Given the description of an element on the screen output the (x, y) to click on. 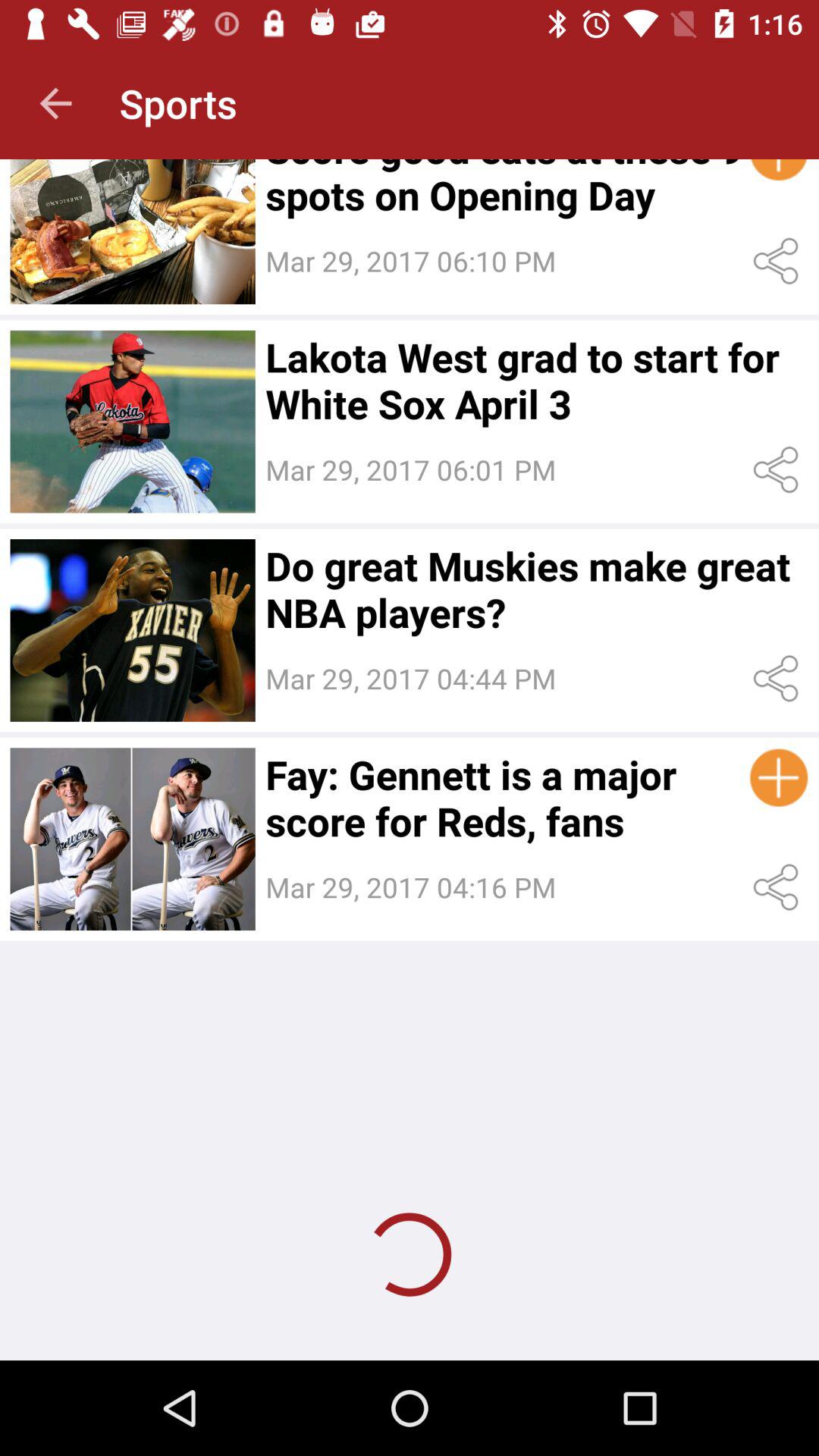
share the content (778, 678)
